Given the description of an element on the screen output the (x, y) to click on. 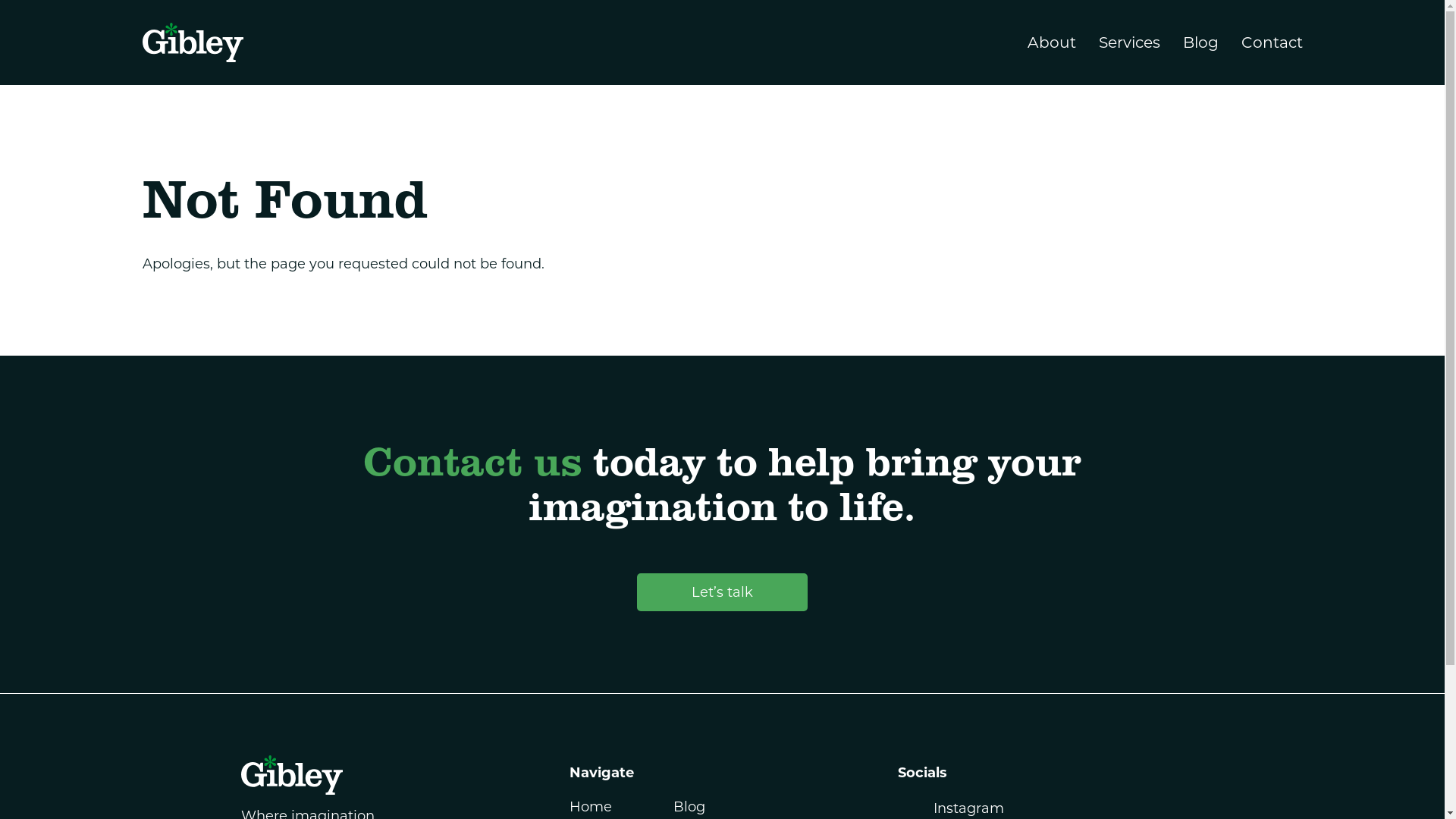
About Element type: text (1050, 42)
Blog Element type: text (1200, 42)
Contact Element type: text (1271, 42)
Services Element type: text (1128, 42)
Gibley Element type: hover (291, 781)
Gibley Element type: text (193, 42)
